Given the description of an element on the screen output the (x, y) to click on. 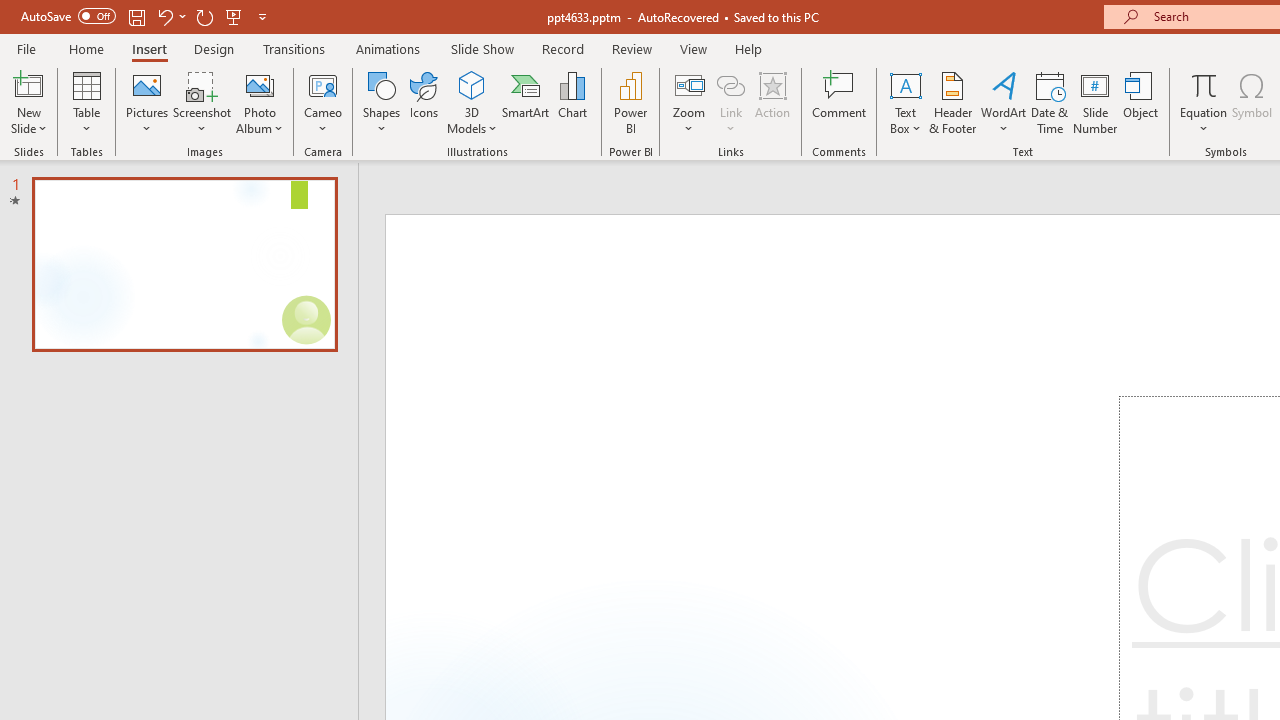
Object... (1141, 102)
SmartArt... (525, 102)
Icons (424, 102)
